Given the description of an element on the screen output the (x, y) to click on. 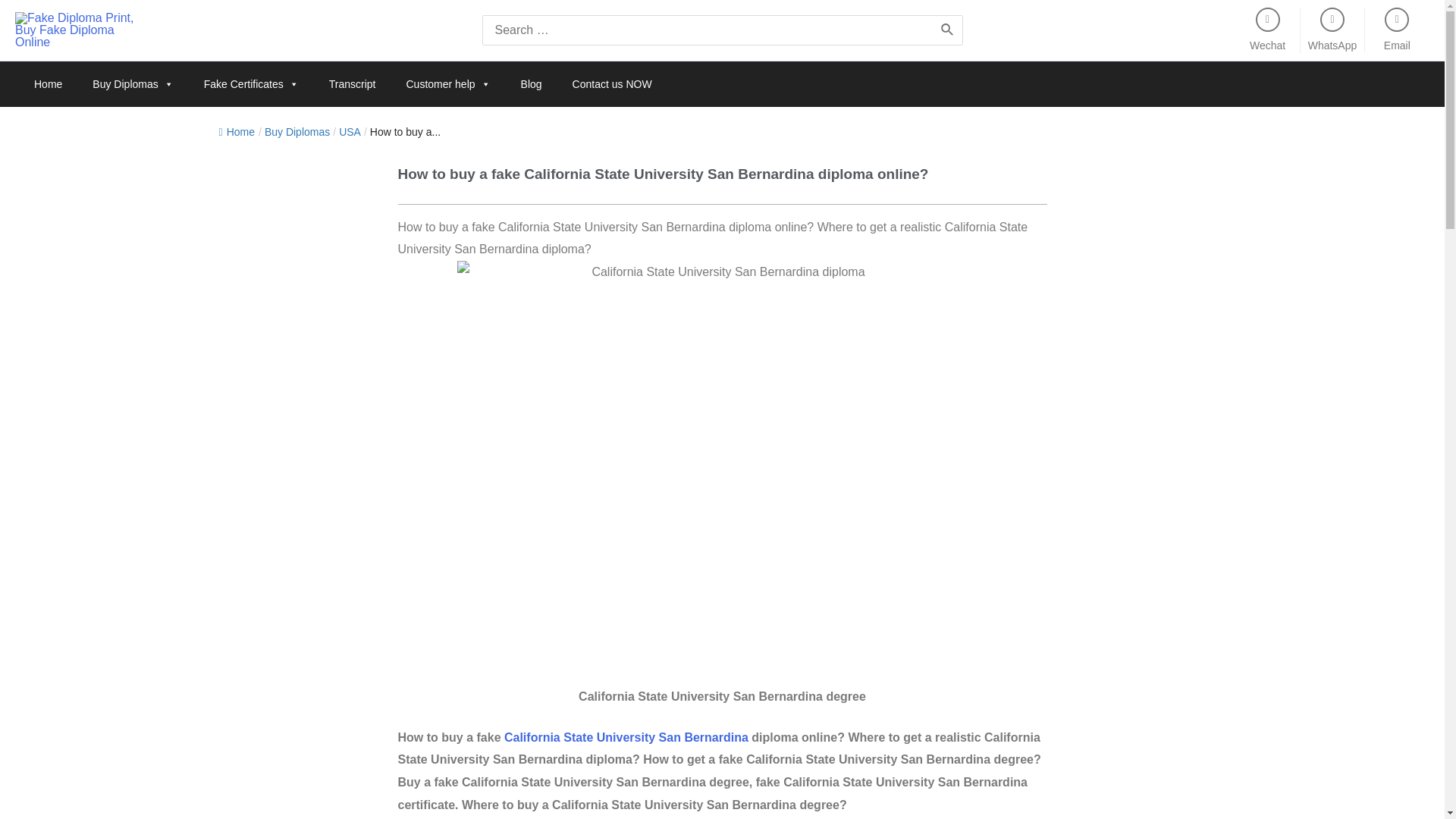
USA (350, 132)
Wechat (1267, 45)
Email (1397, 45)
WhatsApp (1331, 45)
Home (47, 84)
Category Name (297, 132)
Buy Diplomas (132, 84)
